Given the description of an element on the screen output the (x, y) to click on. 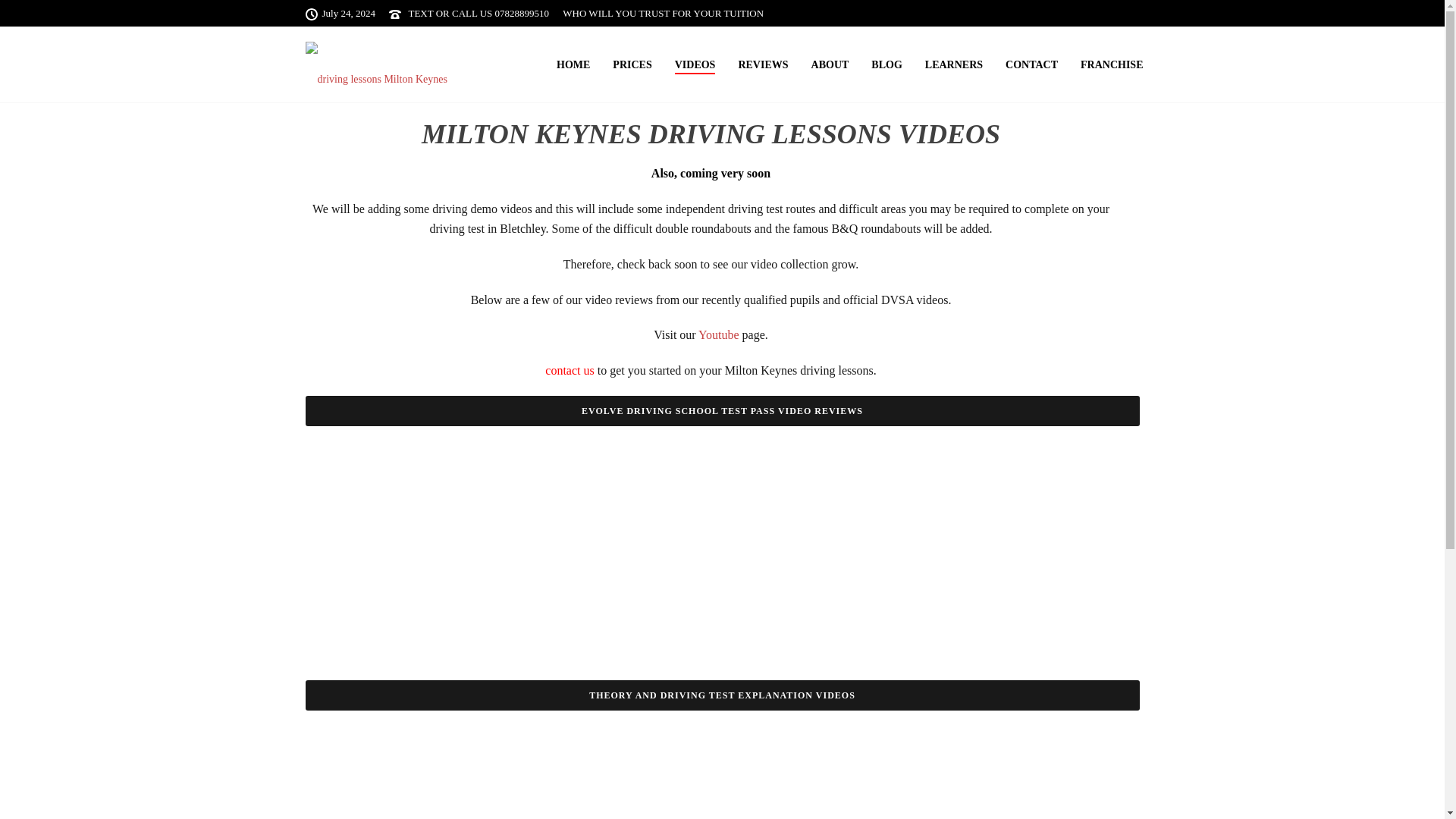
HOME (572, 65)
HOME (572, 65)
THEORY AND DRIVING TEST EXPLANATION VIDEOS (721, 695)
EVOLVE DRIVING SCHOOL TEST PASS VIDEO REVIEWS (721, 410)
REVIEWS (762, 65)
BLOG (886, 65)
CONTACT (1031, 65)
FRANCHISE (1111, 65)
driving lessons Milton Keynes (380, 63)
YouTube video player (418, 770)
TEXT OR CALL US 07828899510 (477, 12)
FRANCHISE (1111, 65)
REVIEWS (762, 65)
CONTACT (1031, 65)
LEARNERS (954, 65)
